Given the description of an element on the screen output the (x, y) to click on. 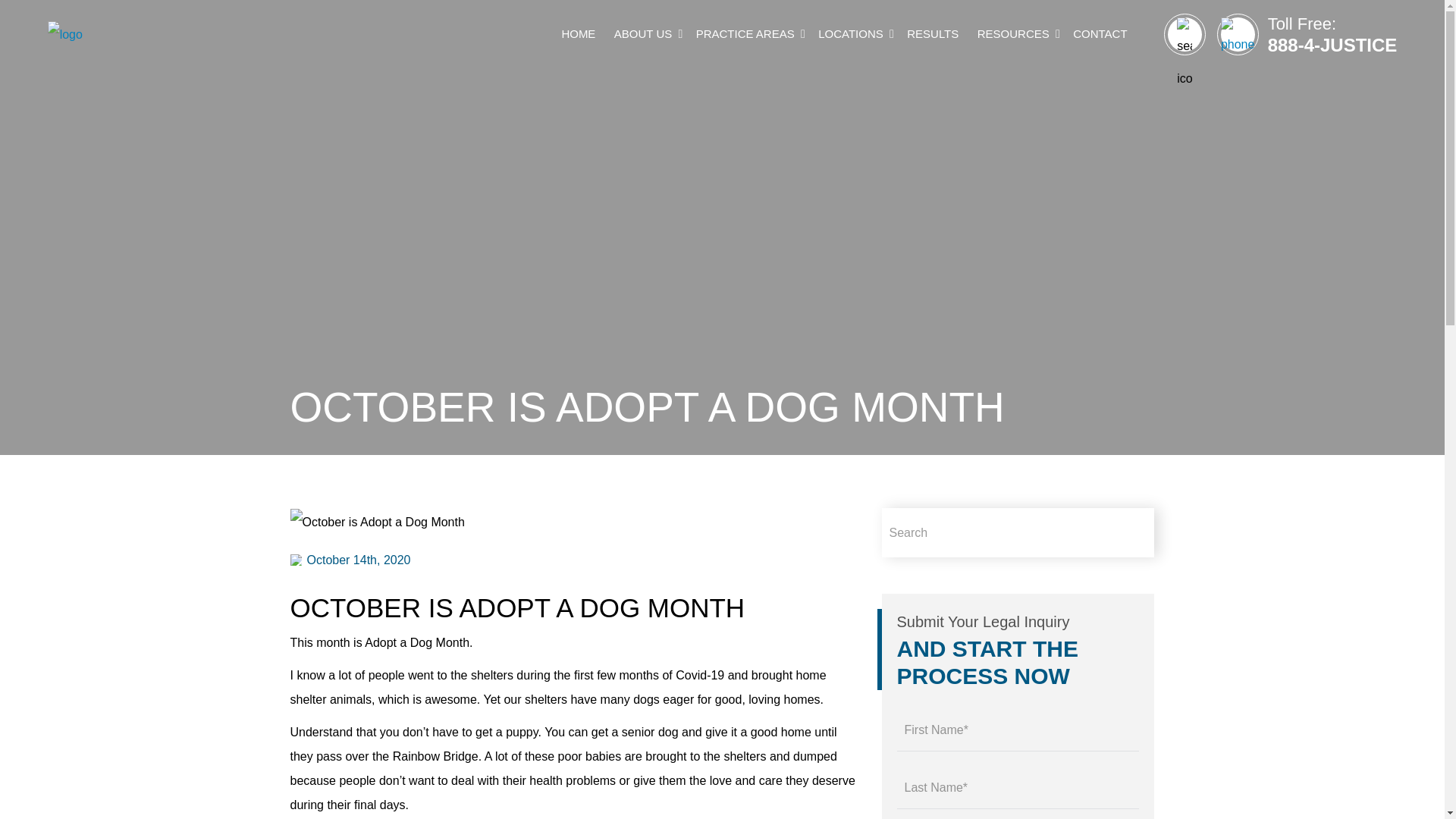
ABOUT US (642, 34)
HOME (577, 34)
PRACTICE AREAS (748, 33)
LOCATIONS (850, 34)
PRACTICE AREAS (744, 34)
RESULTS (932, 34)
RESOURCES (1012, 34)
